Given the description of an element on the screen output the (x, y) to click on. 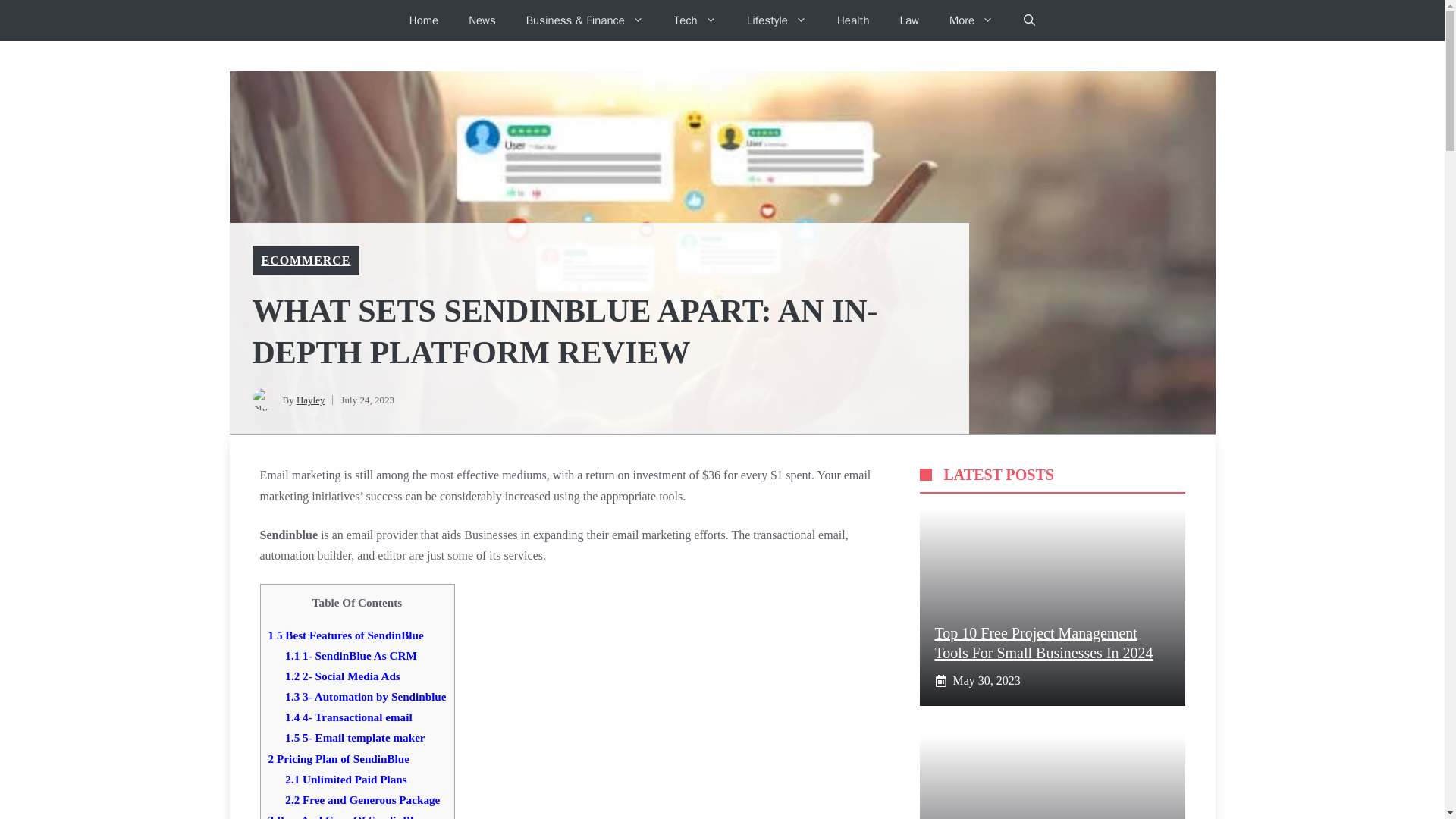
Lifestyle (777, 20)
Home (423, 20)
News (481, 20)
Tech (695, 20)
